Given the description of an element on the screen output the (x, y) to click on. 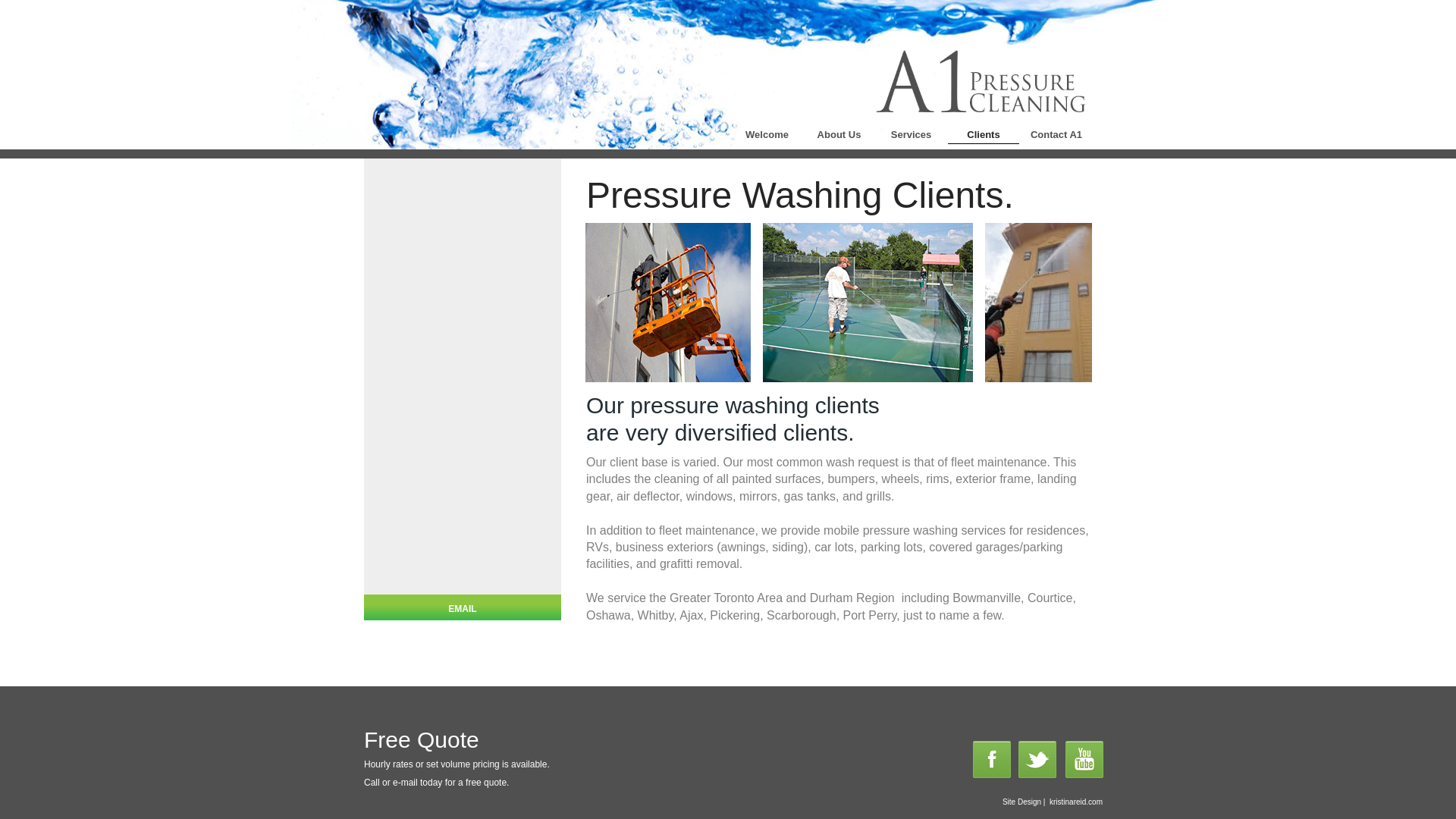
EMAIL Element type: text (462, 609)
Clients Element type: text (983, 133)
Like us on Facebook Element type: hover (991, 759)
Contact A1 Element type: text (1056, 133)
Services Element type: text (910, 133)
Site Design |  kristinareid.com Element type: text (1034, 802)
About Us Element type: text (838, 133)
Welcome Element type: text (766, 133)
